Given the description of an element on the screen output the (x, y) to click on. 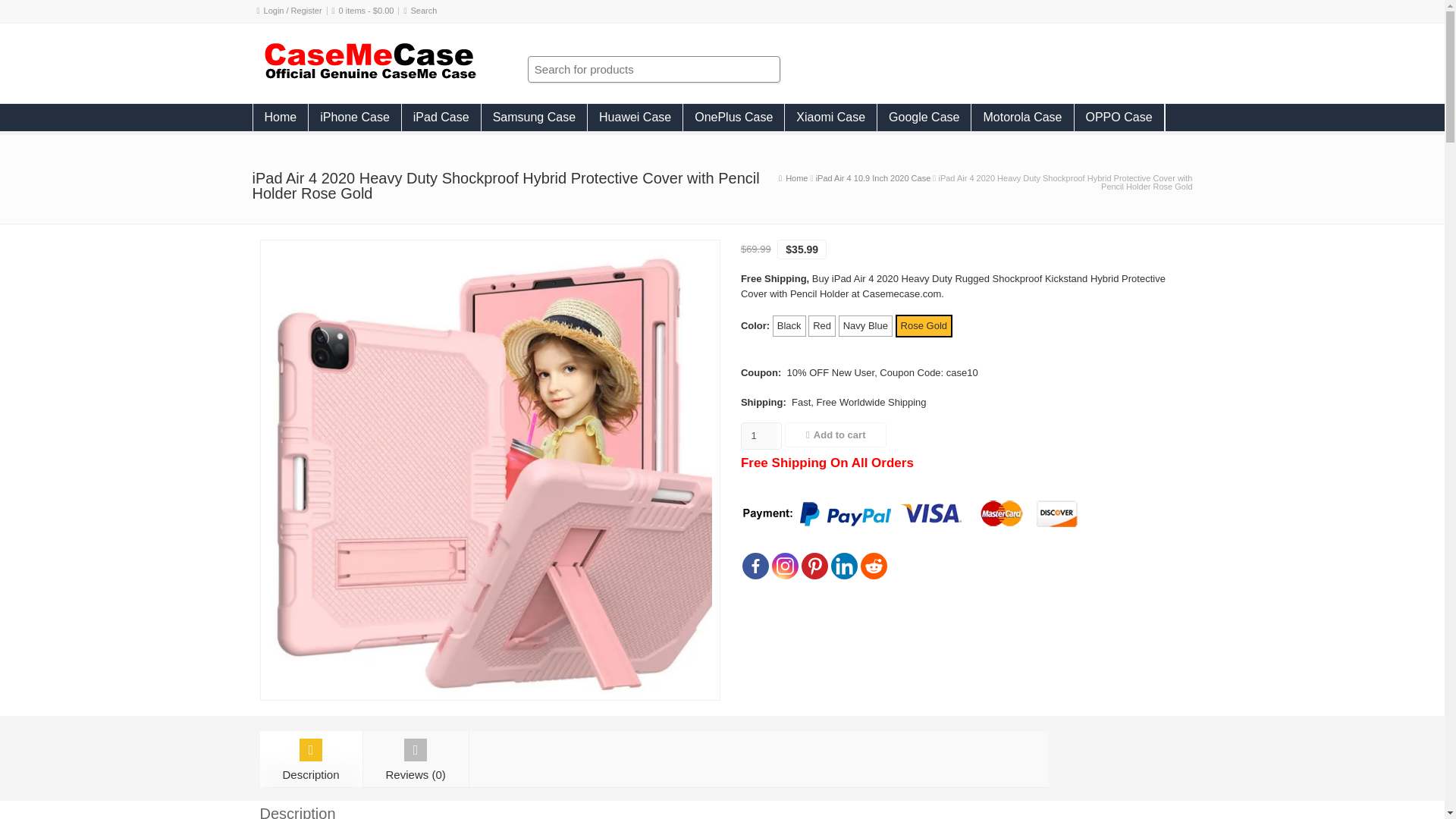
Facebook (755, 565)
1 (759, 435)
Instagram (784, 565)
Reddit (873, 565)
View your shopping cart (366, 10)
Search (424, 10)
Official CaseMe Case (797, 177)
Linkedin (844, 565)
iPhone Case (354, 117)
Search (424, 10)
Official CaseMe Case (369, 76)
Home (280, 117)
Pinterest (815, 565)
